Given the description of an element on the screen output the (x, y) to click on. 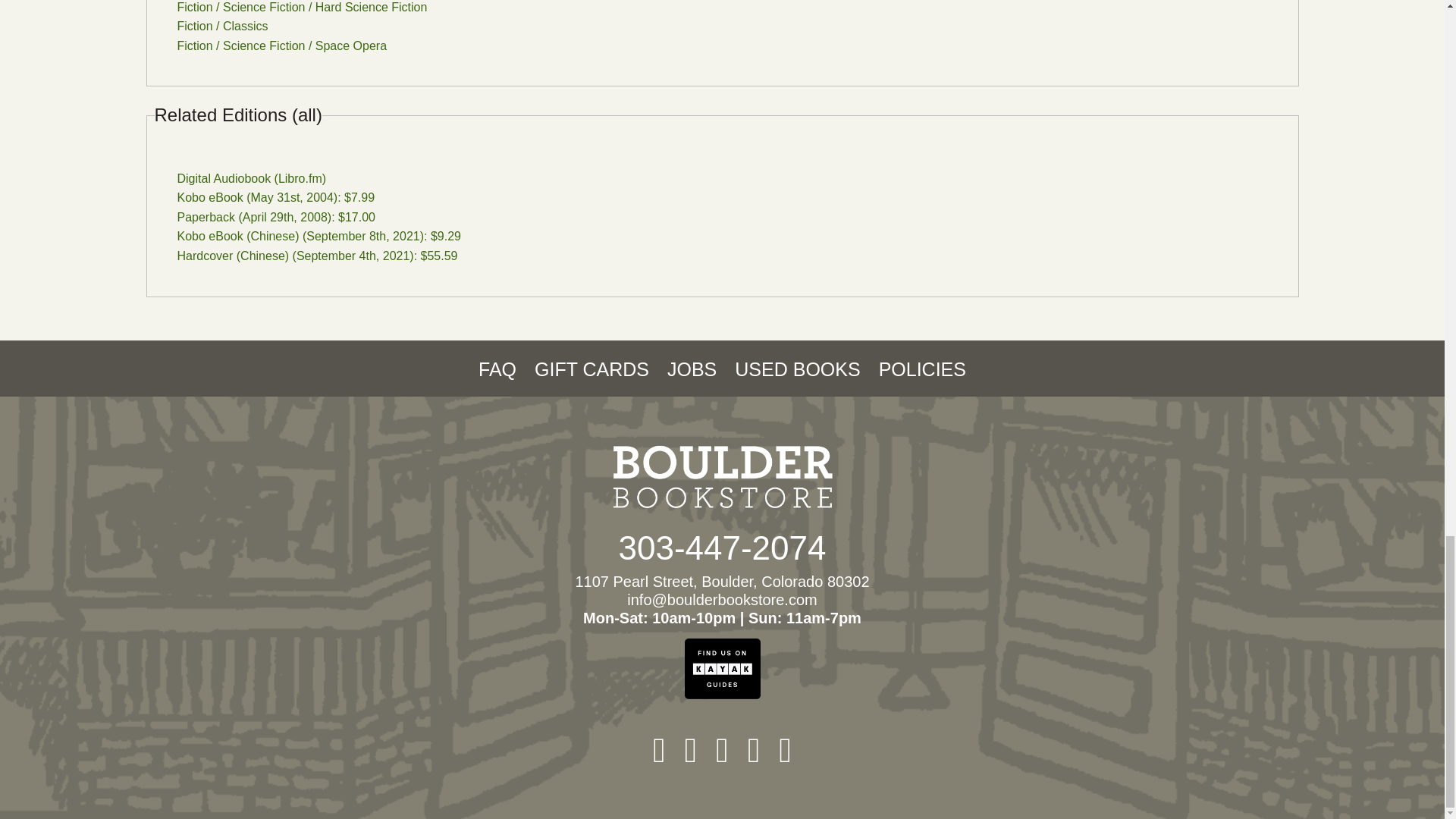
GIFT CARDS (591, 369)
USED BOOKS (797, 369)
JOBS (691, 369)
FAQ (497, 369)
POLICIES (922, 369)
